Given the description of an element on the screen output the (x, y) to click on. 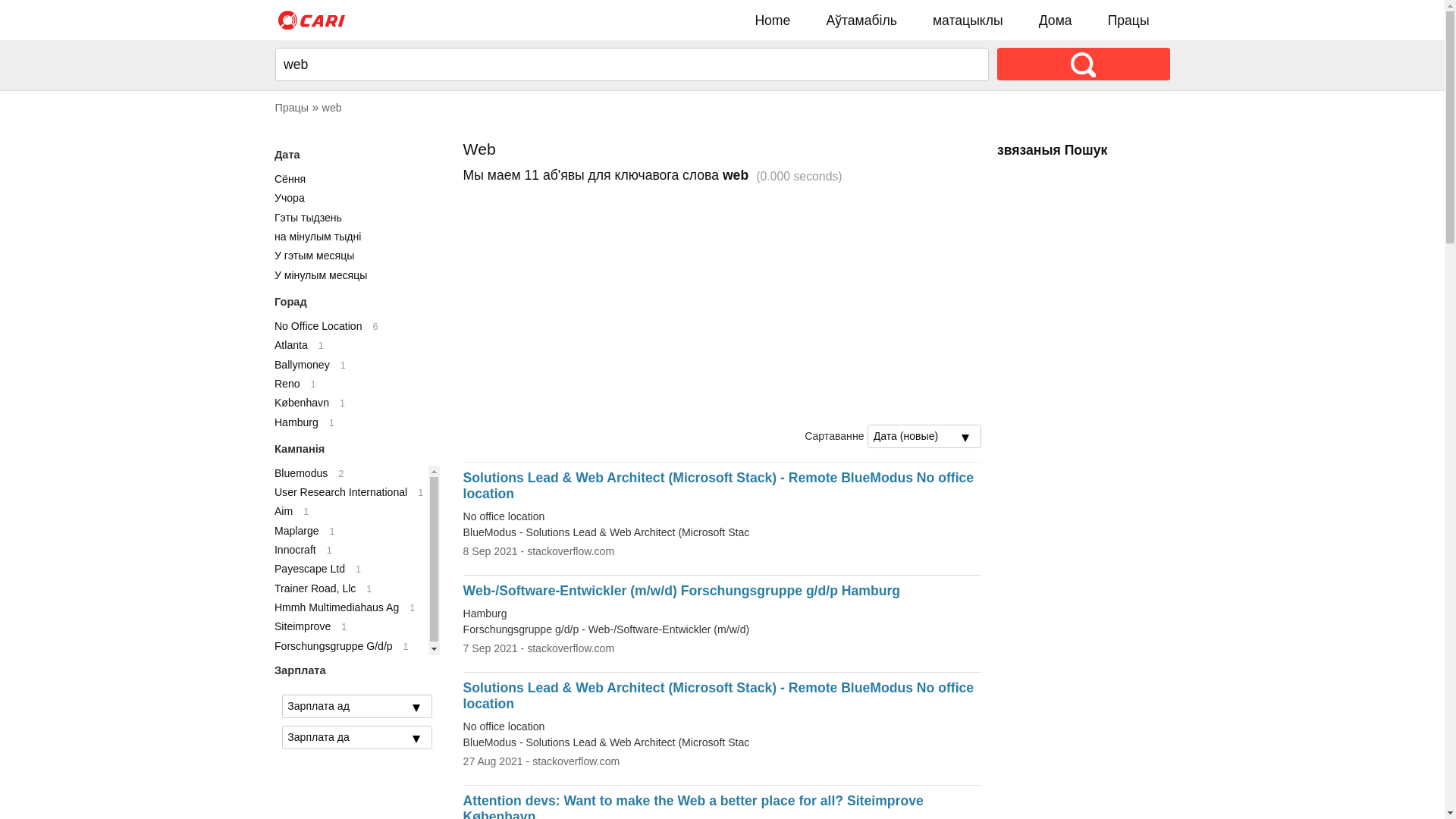
Advertisement Element type: hover (1083, 408)
Advertisement Element type: hover (722, 304)
Home Element type: text (773, 20)
web Element type: text (332, 107)
